Given the description of an element on the screen output the (x, y) to click on. 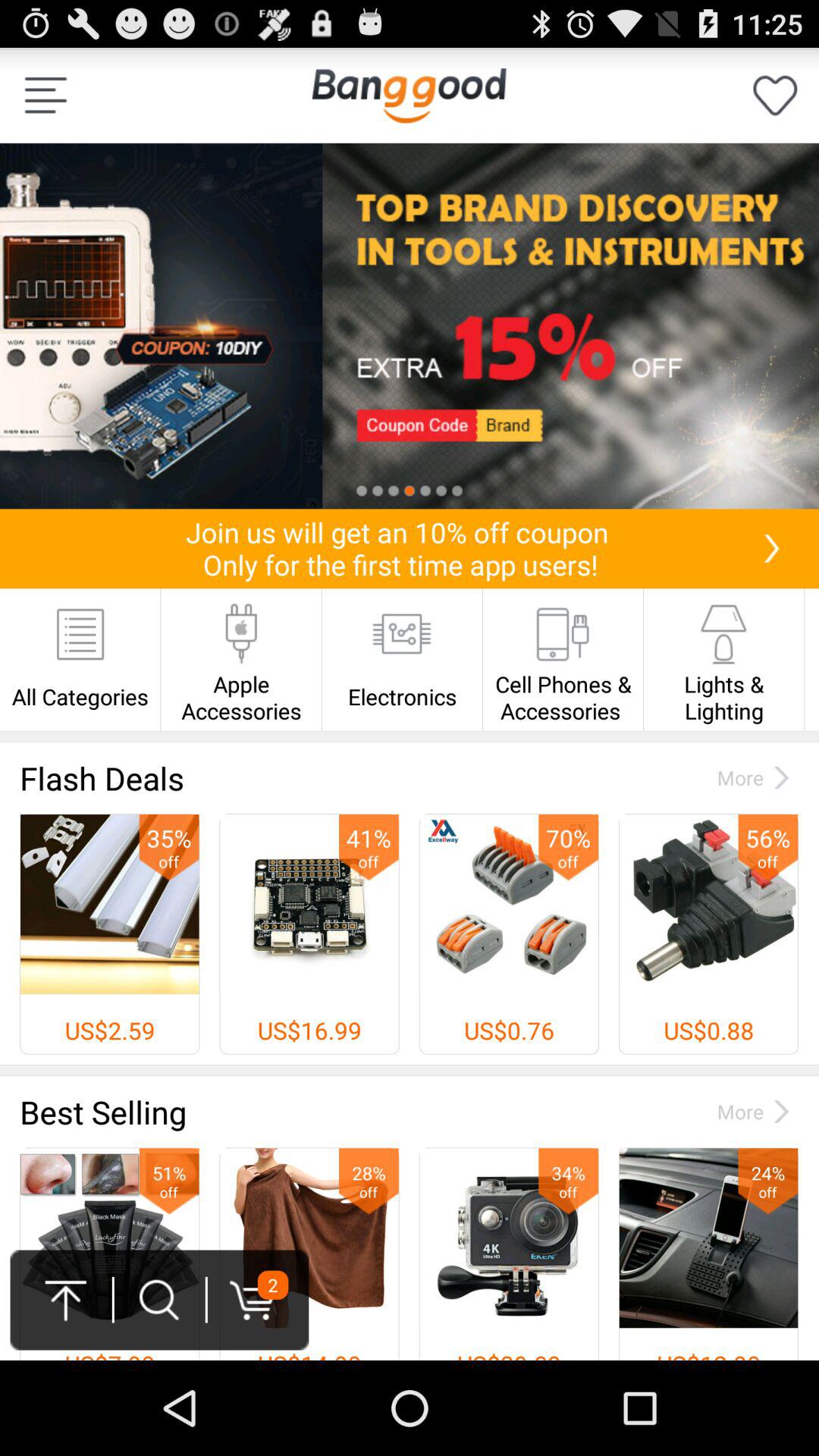
wishlist (775, 95)
